Given the description of an element on the screen output the (x, y) to click on. 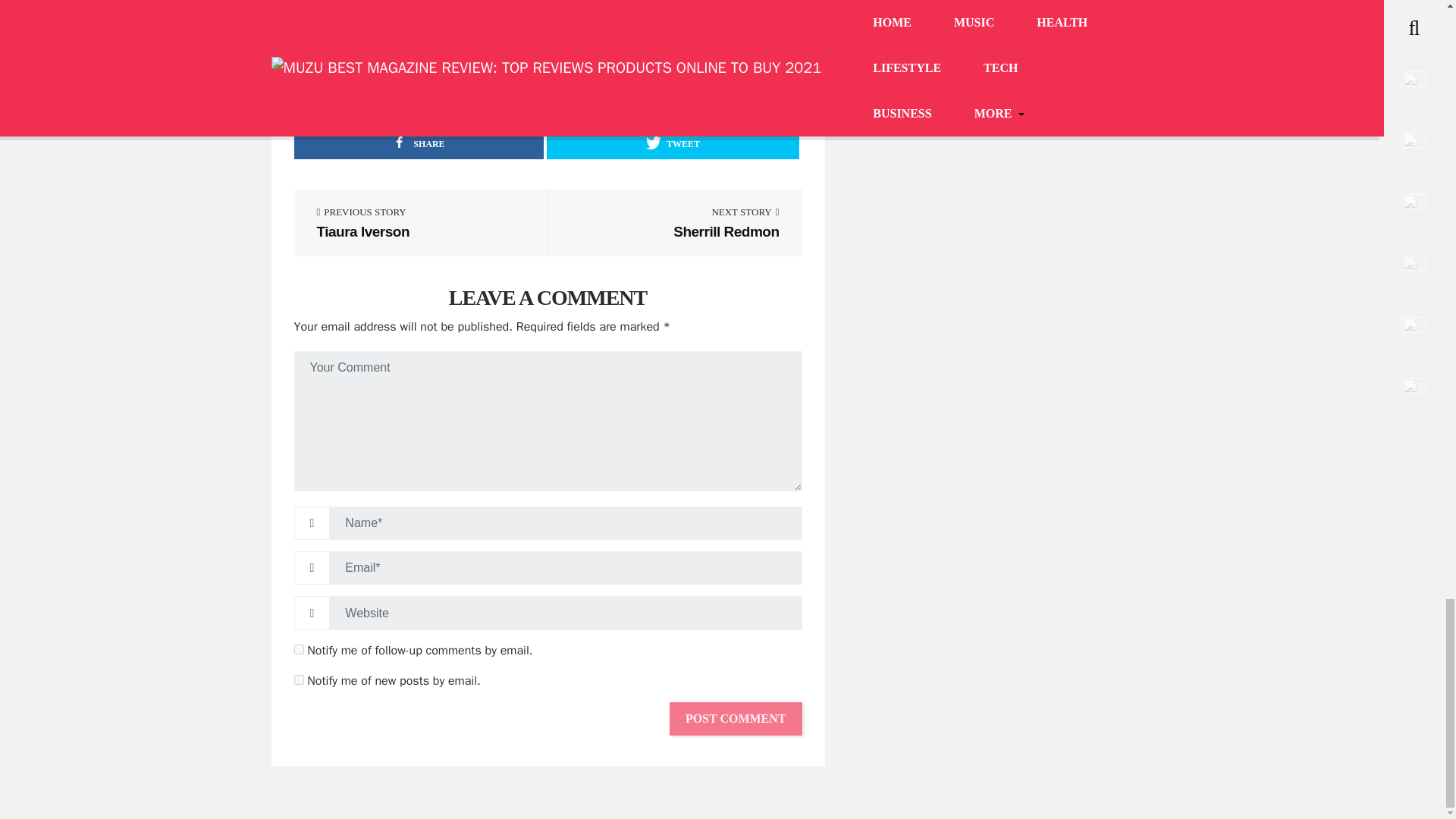
Sherrill Redmon (674, 231)
TWEET (740, 40)
Post Comment (672, 142)
SHARE (735, 718)
Post Comment (419, 142)
subscribe (735, 718)
subscribe (299, 679)
Tiaura Iverson (518, 40)
